Given the description of an element on the screen output the (x, y) to click on. 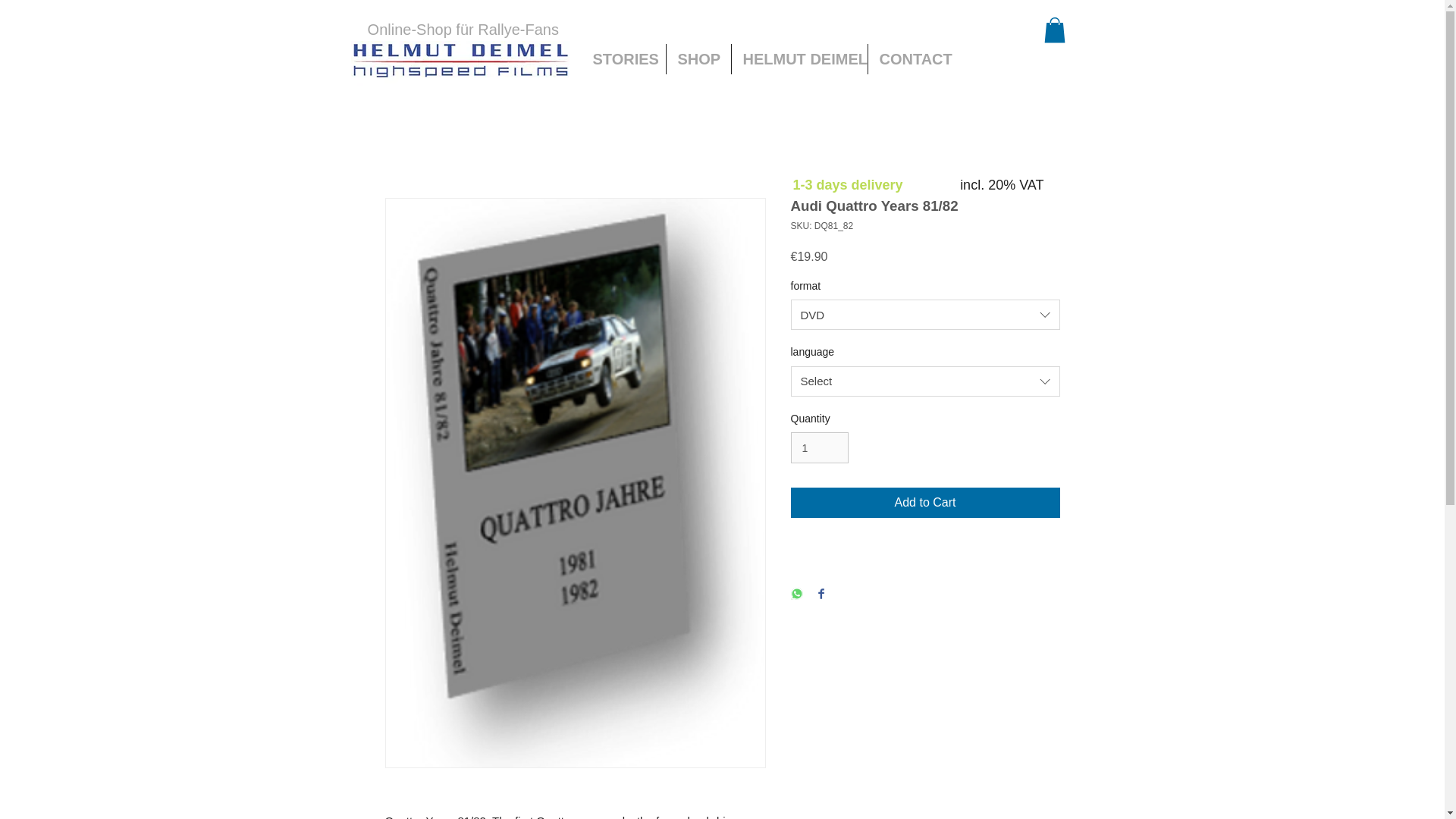
1 (818, 447)
STORIES (622, 59)
Add to Cart (924, 502)
HELMUT DEIMEL (798, 59)
DVD (924, 314)
Select (924, 381)
CONTACT (911, 59)
SHOP (697, 59)
